Given the description of an element on the screen output the (x, y) to click on. 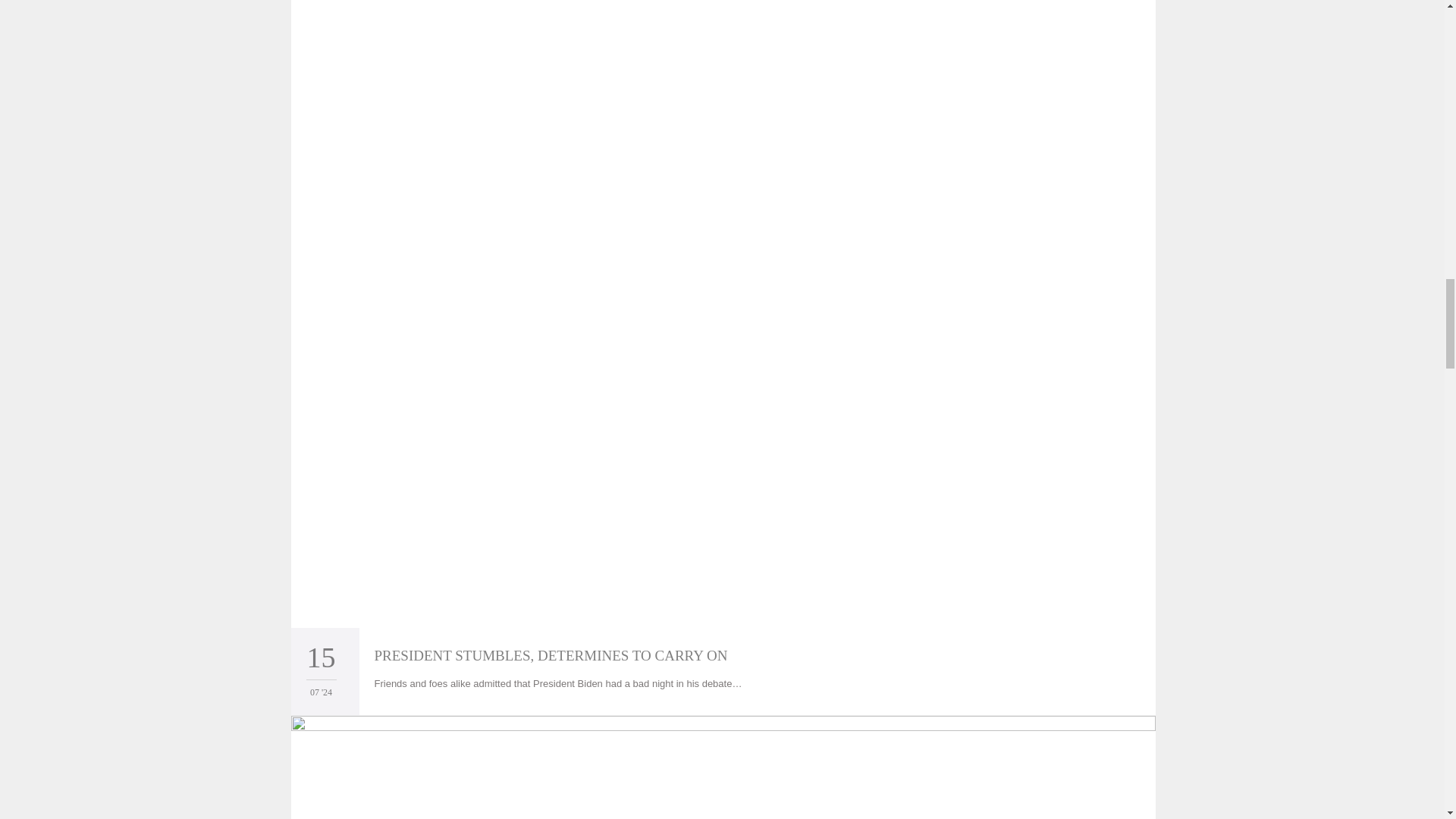
PRESIDENT STUMBLES, DETERMINES TO CARRY ON (551, 655)
BIDEN STUMBLES, SUPREME COURT THROWS TRUMP A LIFELINE (723, 767)
PRESIDENT STUMBLES, DETERMINES TO CARRY ON (551, 655)
